Given the description of an element on the screen output the (x, y) to click on. 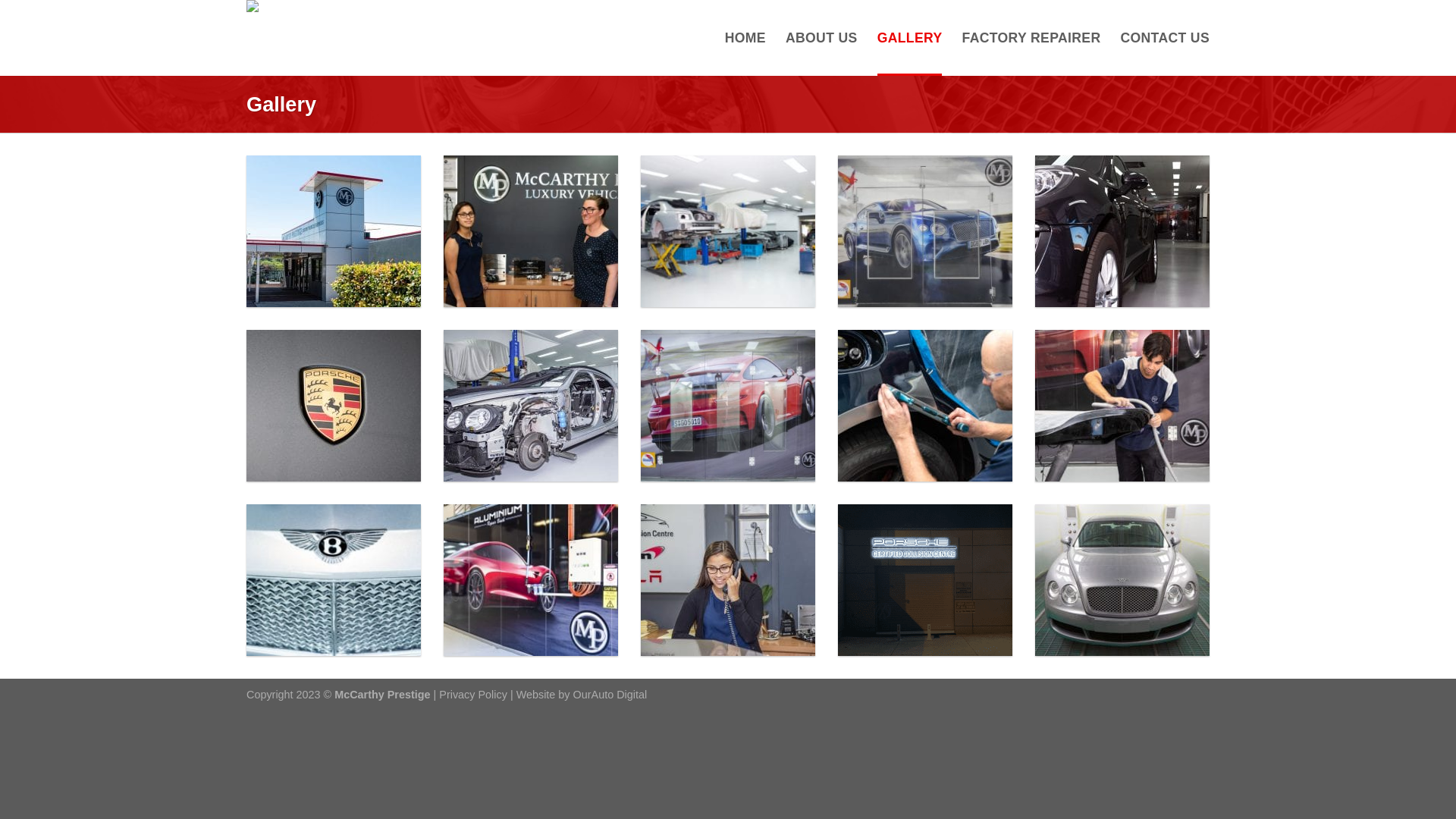
Privacy Policy Element type: text (473, 694)
ABOUT US Element type: text (821, 37)
HOME Element type: text (744, 37)
McCarthy Prestige Element type: hover (380, 37)
GALLERY Element type: text (909, 37)
FACTORY REPAIRER Element type: text (1031, 37)
CONTACT US Element type: text (1164, 37)
